Given the description of an element on the screen output the (x, y) to click on. 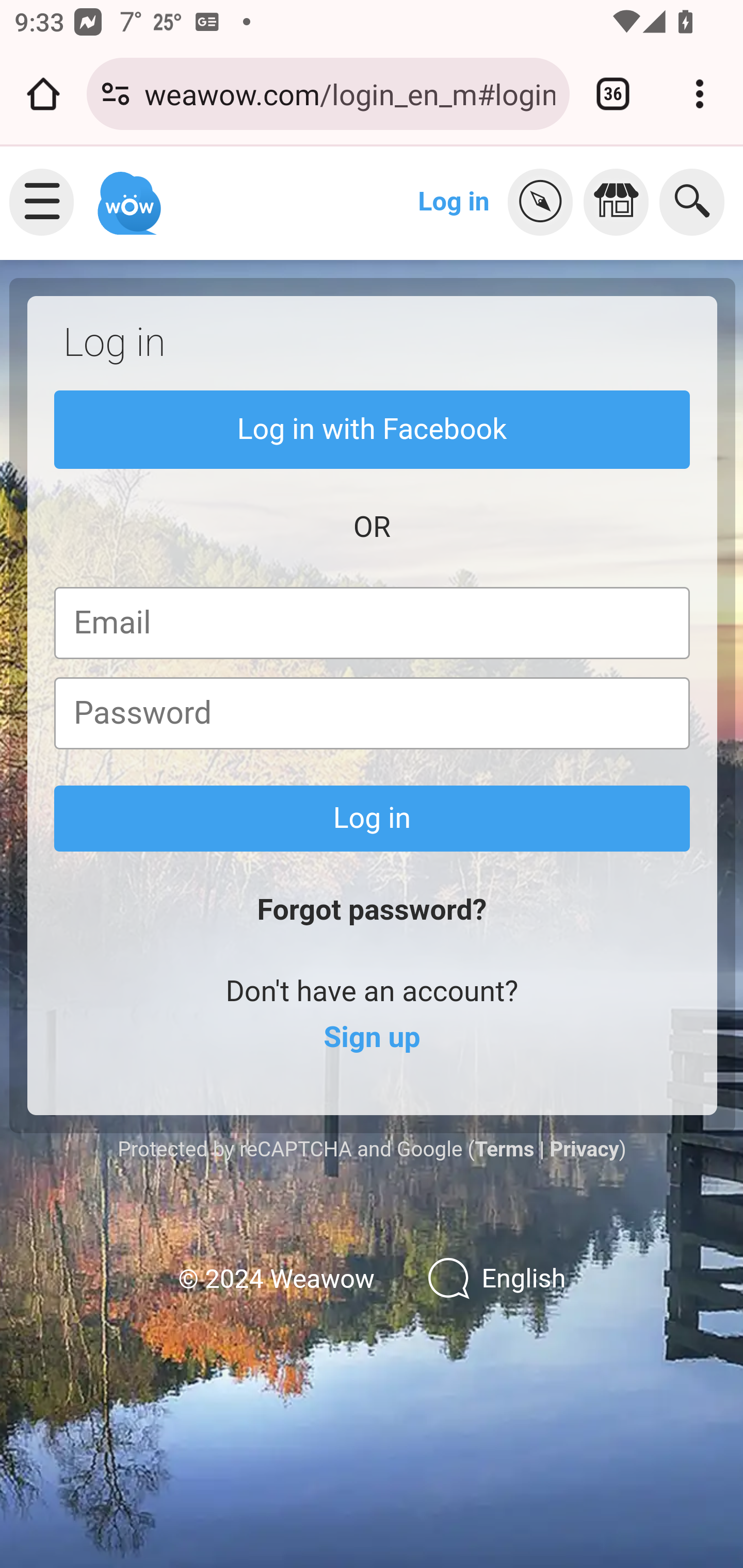
Open the home page (43, 93)
Connection is secure (115, 93)
Switch or close tabs (612, 93)
Customize and control Google Chrome (699, 93)
weawow.com/login_en_m#login (349, 92)
Weawow (127, 194)
 (545, 201)
 (621, 201)
Log in (453, 201)
Log in (372, 817)
Forgot password? (371, 910)
Sign up (371, 1037)
Terms (503, 1148)
Privacy (583, 1148)
© 2024 Weawow (275, 1279)
